Given the description of an element on the screen output the (x, y) to click on. 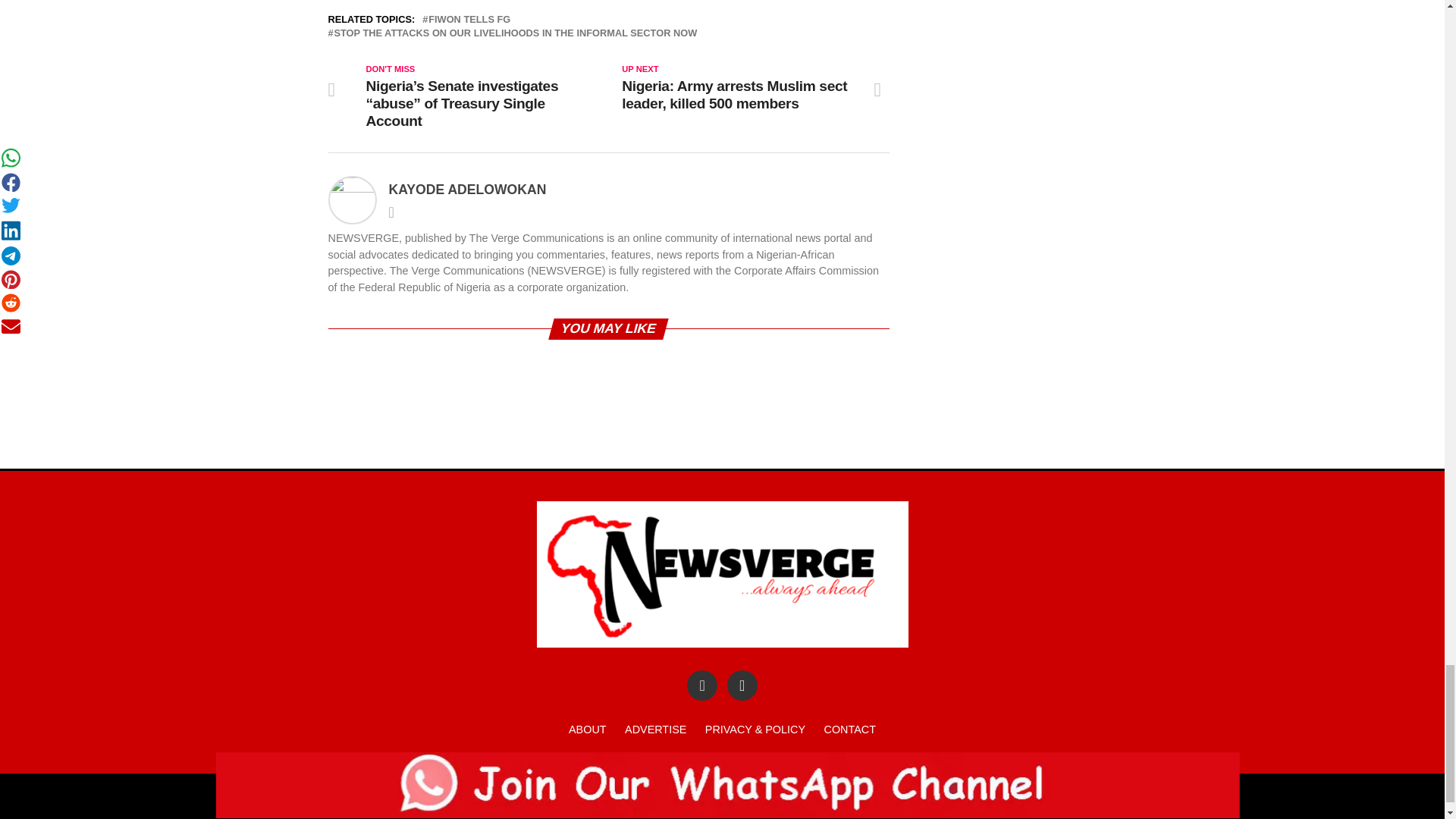
Posts by KAYODE ADELOWOKAN (467, 189)
